Given the description of an element on the screen output the (x, y) to click on. 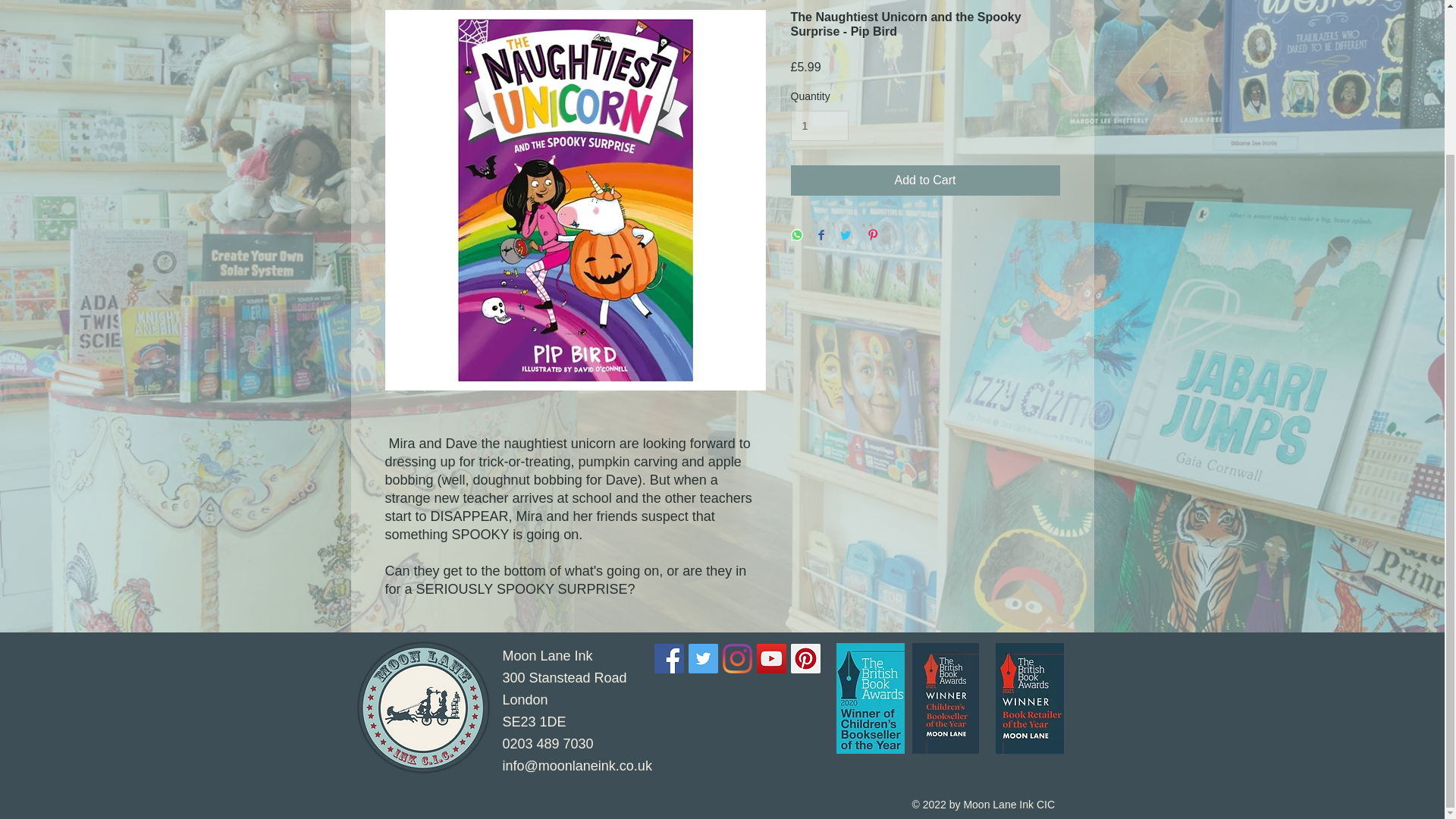
1 (818, 125)
Add to Cart (924, 180)
